Given the description of an element on the screen output the (x, y) to click on. 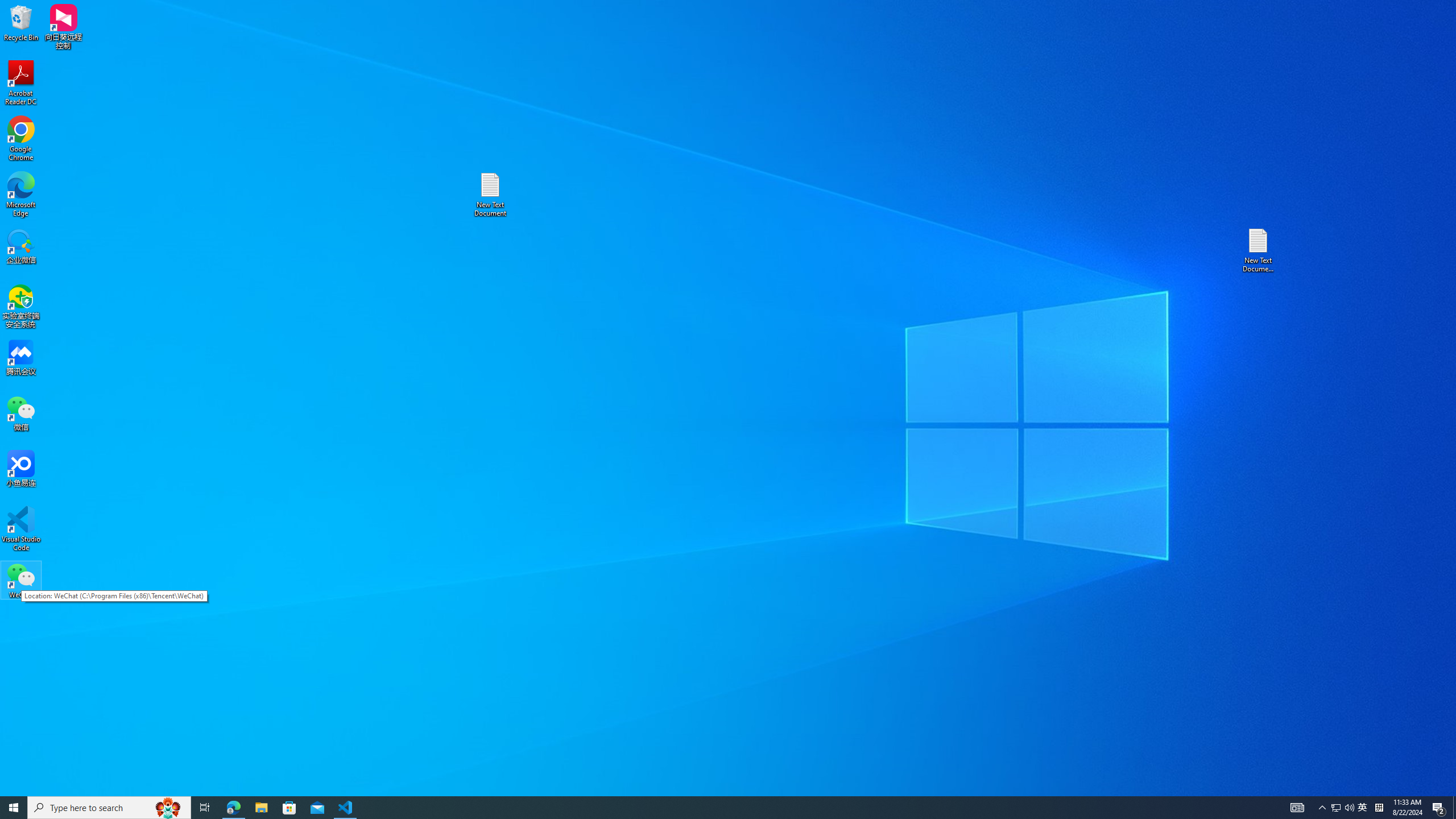
Tray Input Indicator - Chinese (Simplified, China) (1378, 807)
Action Center, 2 new notifications (1439, 807)
Microsoft Store (289, 807)
Show desktop (1454, 807)
New Text Document (489, 194)
Type here to search (108, 807)
WeChat (21, 580)
Microsoft Edge - 1 running window (233, 807)
New Text Document (2) (1258, 250)
Notification Chevron (1335, 807)
AutomationID: 4105 (1322, 807)
